Given the description of an element on the screen output the (x, y) to click on. 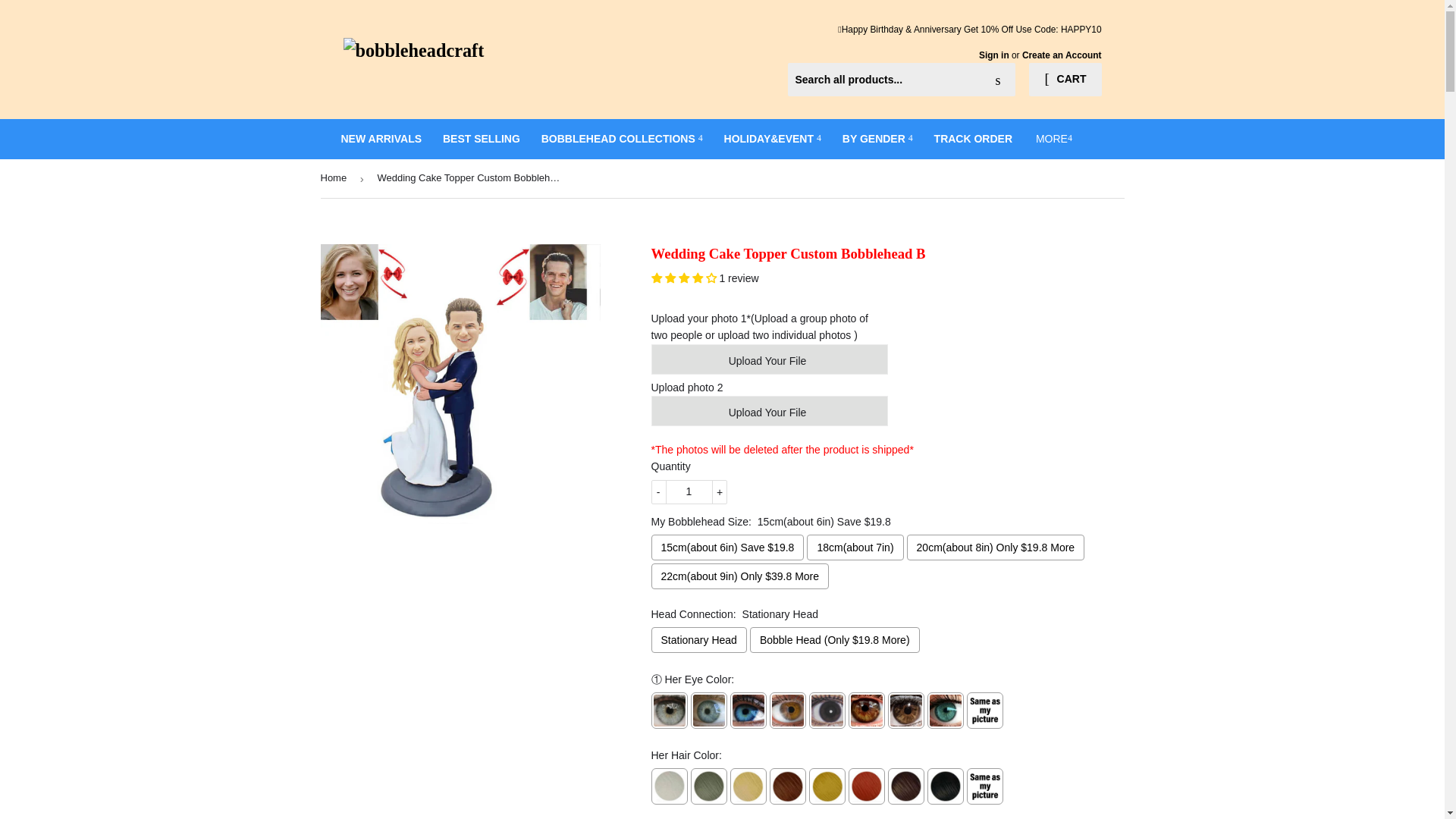
Back to the frontpage (336, 178)
Search (997, 80)
CART (1064, 79)
Create an Account (1062, 54)
Sign in (993, 54)
